Given the description of an element on the screen output the (x, y) to click on. 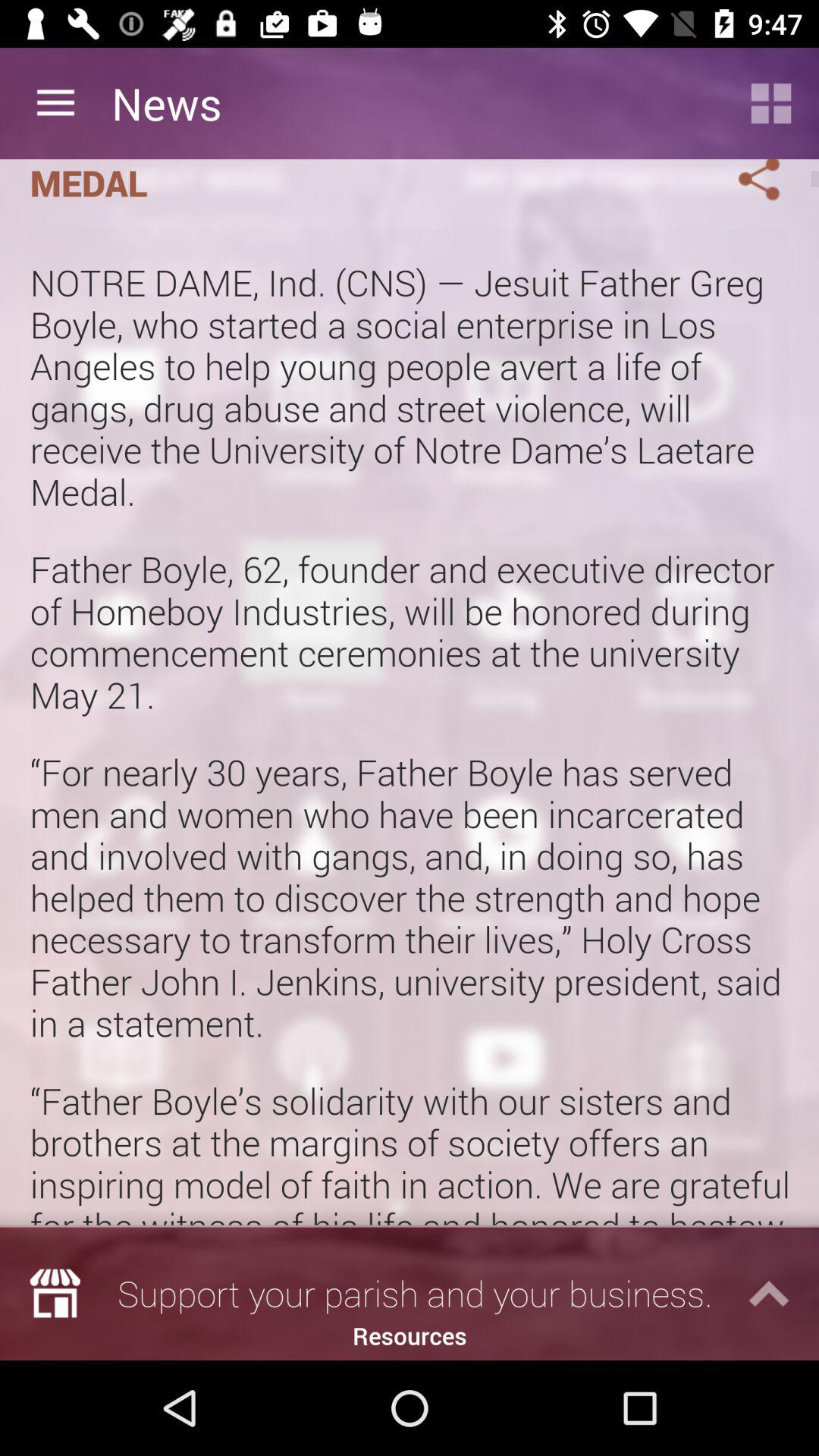
click the icon next to news item (771, 103)
